Given the description of an element on the screen output the (x, y) to click on. 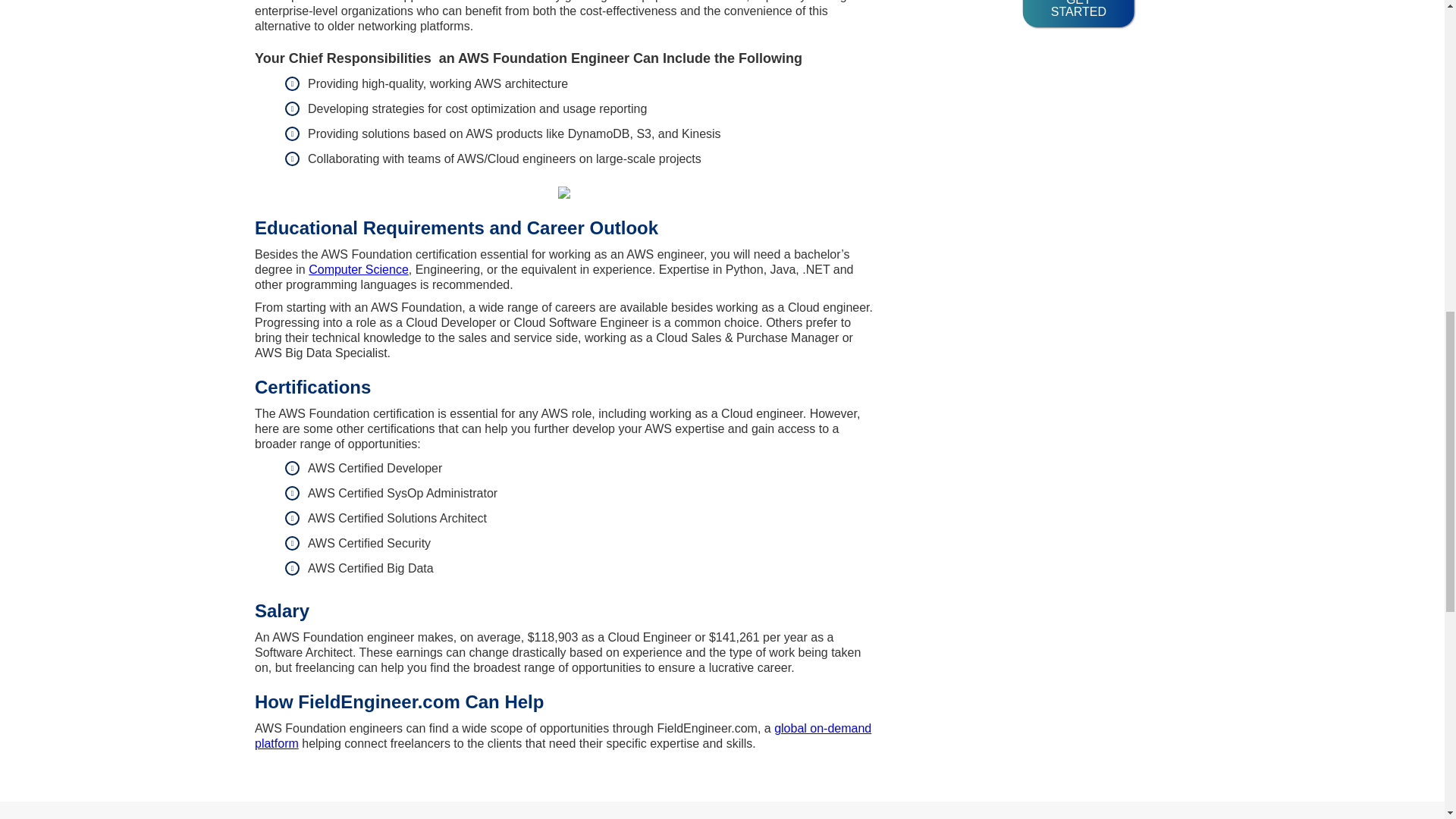
GET STARTED (1078, 13)
Computer Science (358, 269)
global on-demand platform (562, 735)
